Given the description of an element on the screen output the (x, y) to click on. 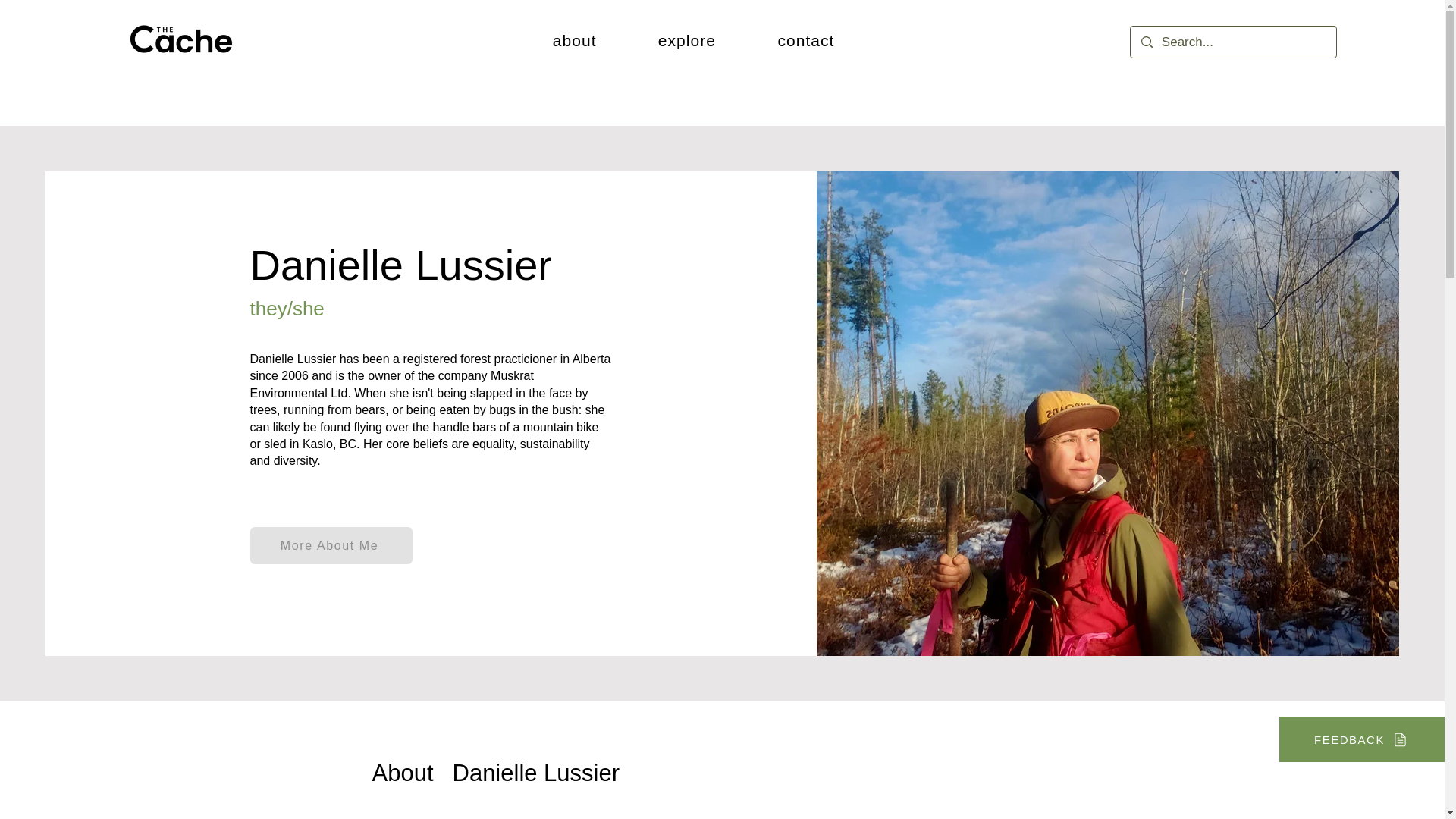
More About Me (331, 545)
contact (805, 40)
explore (687, 40)
